Given the description of an element on the screen output the (x, y) to click on. 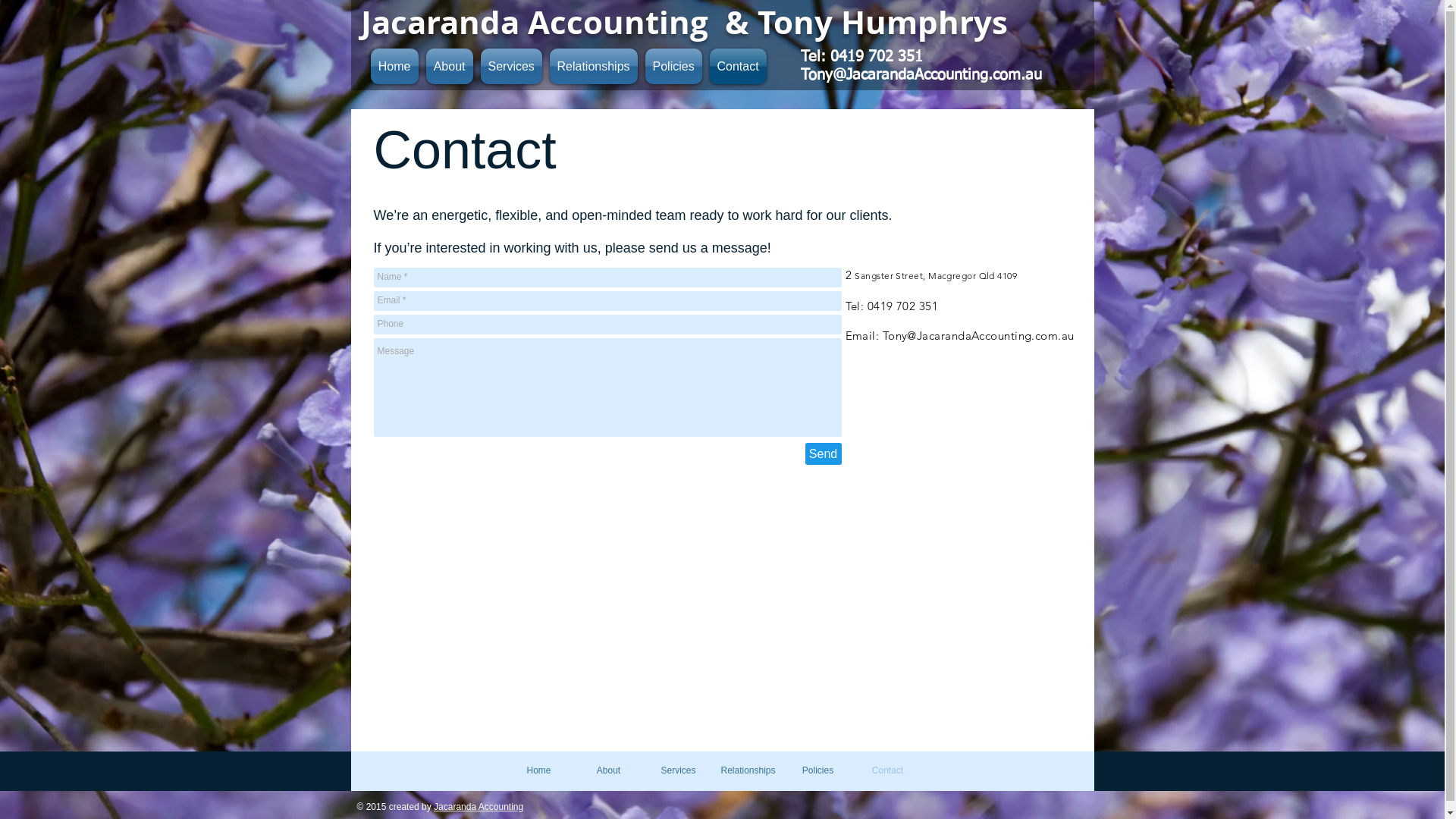
About Element type: text (448, 66)
Home Element type: text (538, 770)
Google Maps Element type: hover (727, 607)
Jacaranda Accounting  & Tony Humphrys Element type: text (683, 21)
Tony@JacarandaAccounting.com.au Element type: text (920, 74)
Relationships Element type: text (747, 770)
Policies Element type: text (817, 770)
Tony@JacarandaAccounting.com.au Element type: text (978, 335)
Contact Element type: text (735, 66)
Home Element type: text (394, 66)
Policies Element type: text (673, 66)
Services Element type: text (677, 770)
Contact Element type: text (887, 770)
Send Element type: text (823, 453)
About Element type: text (608, 770)
Relationships Element type: text (593, 66)
Services Element type: text (510, 66)
